Given the description of an element on the screen output the (x, y) to click on. 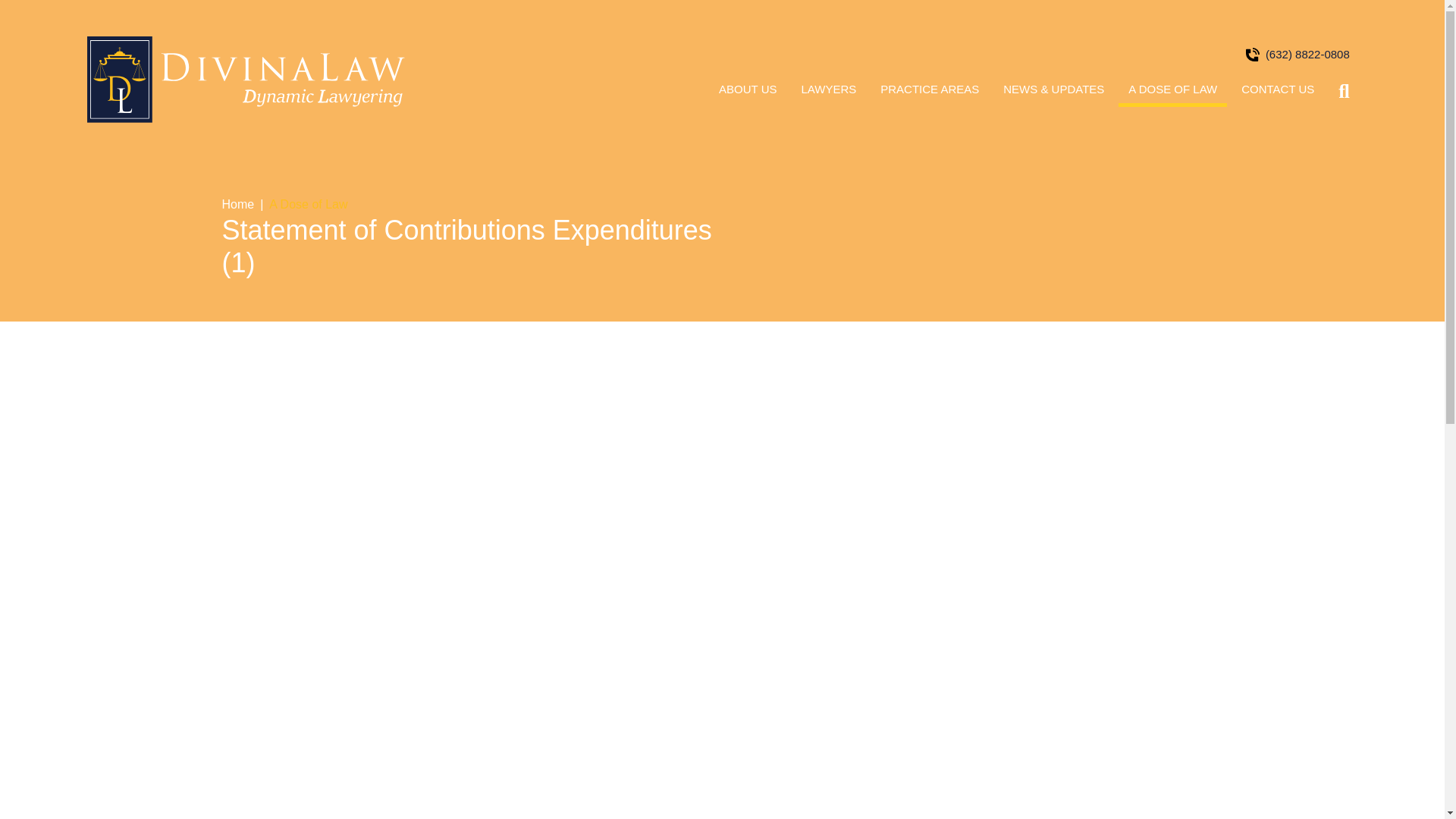
ABOUT US (747, 94)
Practice Areas (929, 94)
LAWYERS (829, 94)
PRACTICE AREAS (929, 94)
CONTACT US (1277, 94)
About Us (747, 94)
Lawyers (829, 94)
A DOSE OF LAW (1172, 94)
